Given the description of an element on the screen output the (x, y) to click on. 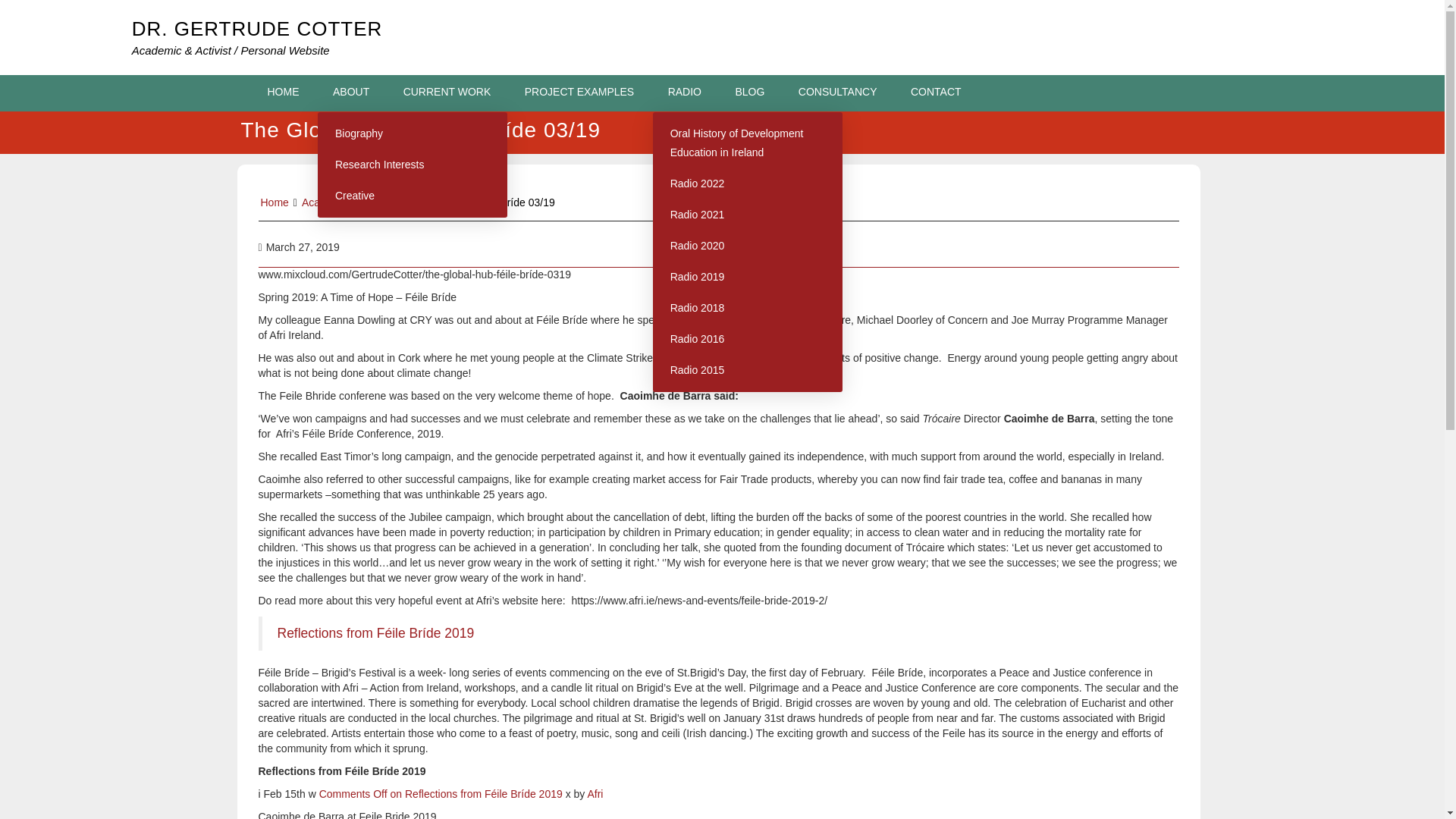
RADIO (684, 91)
CONSULTANCY (837, 91)
Biography (411, 133)
Creative (411, 195)
Afri (594, 793)
Radio 2021 (747, 214)
HOME (282, 91)
Radio 2016 (747, 338)
Research Interests (411, 164)
Radio 2015 (747, 369)
